Given the description of an element on the screen output the (x, y) to click on. 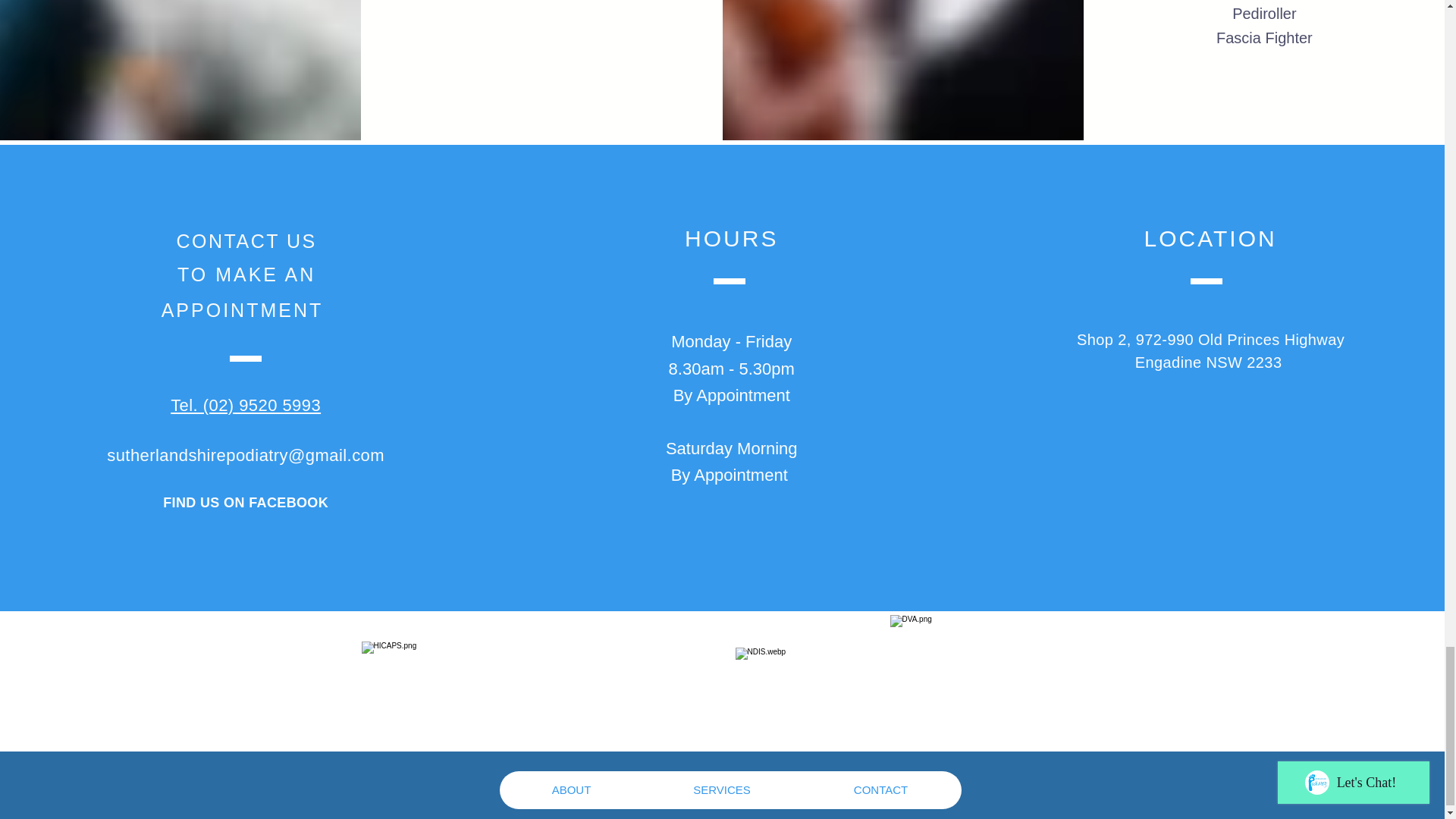
Google Maps (1207, 485)
CONTACT (879, 790)
ABOUT (571, 790)
SERVICES (721, 790)
